Given the description of an element on the screen output the (x, y) to click on. 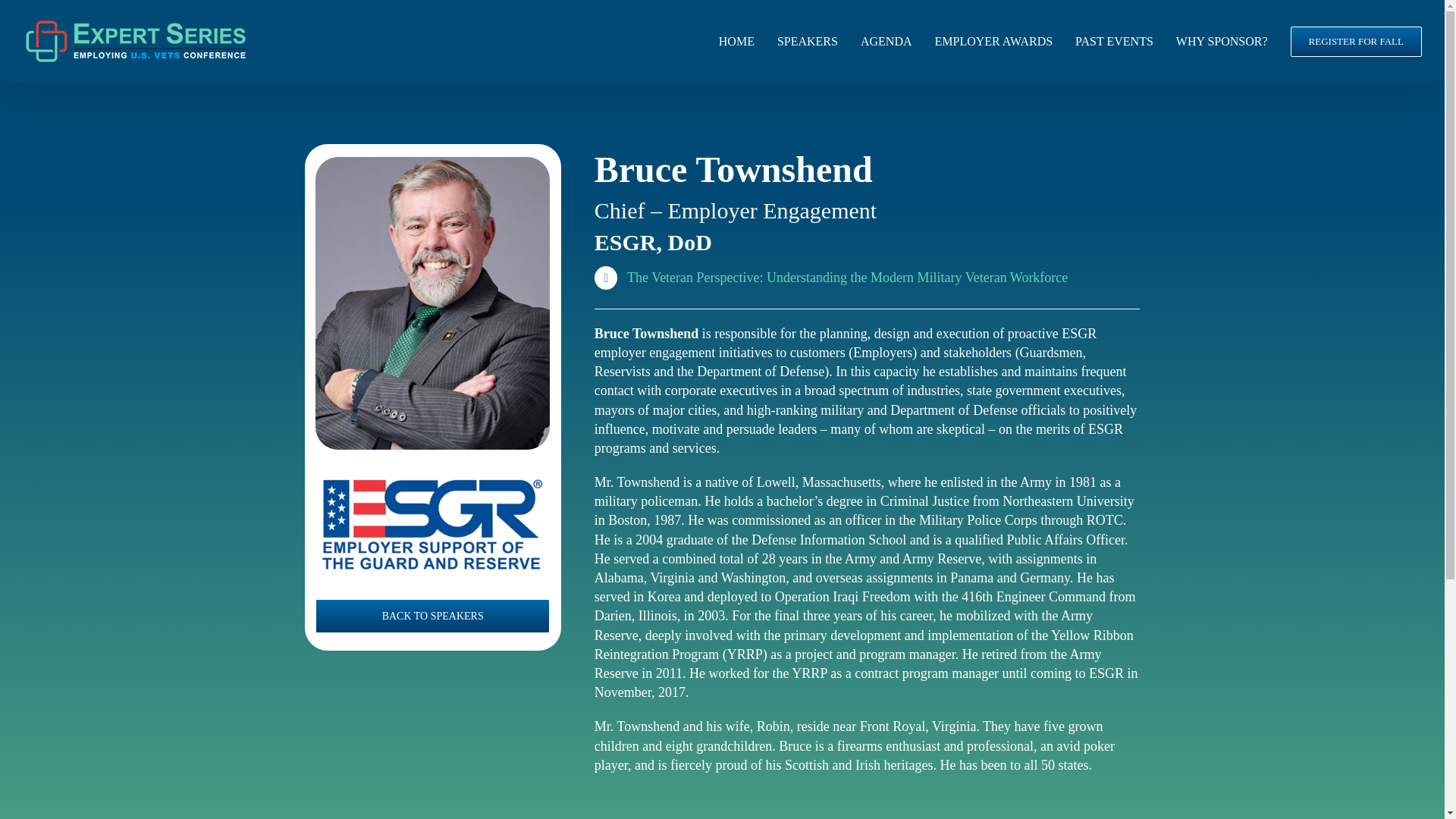
WHY SPONSOR? (1222, 41)
REGISTER FOR FALL (1356, 41)
PAST EVENTS (1114, 41)
spons-esgr-2023 (431, 524)
EMPLOYER AWARDS (993, 41)
